Given the description of an element on the screen output the (x, y) to click on. 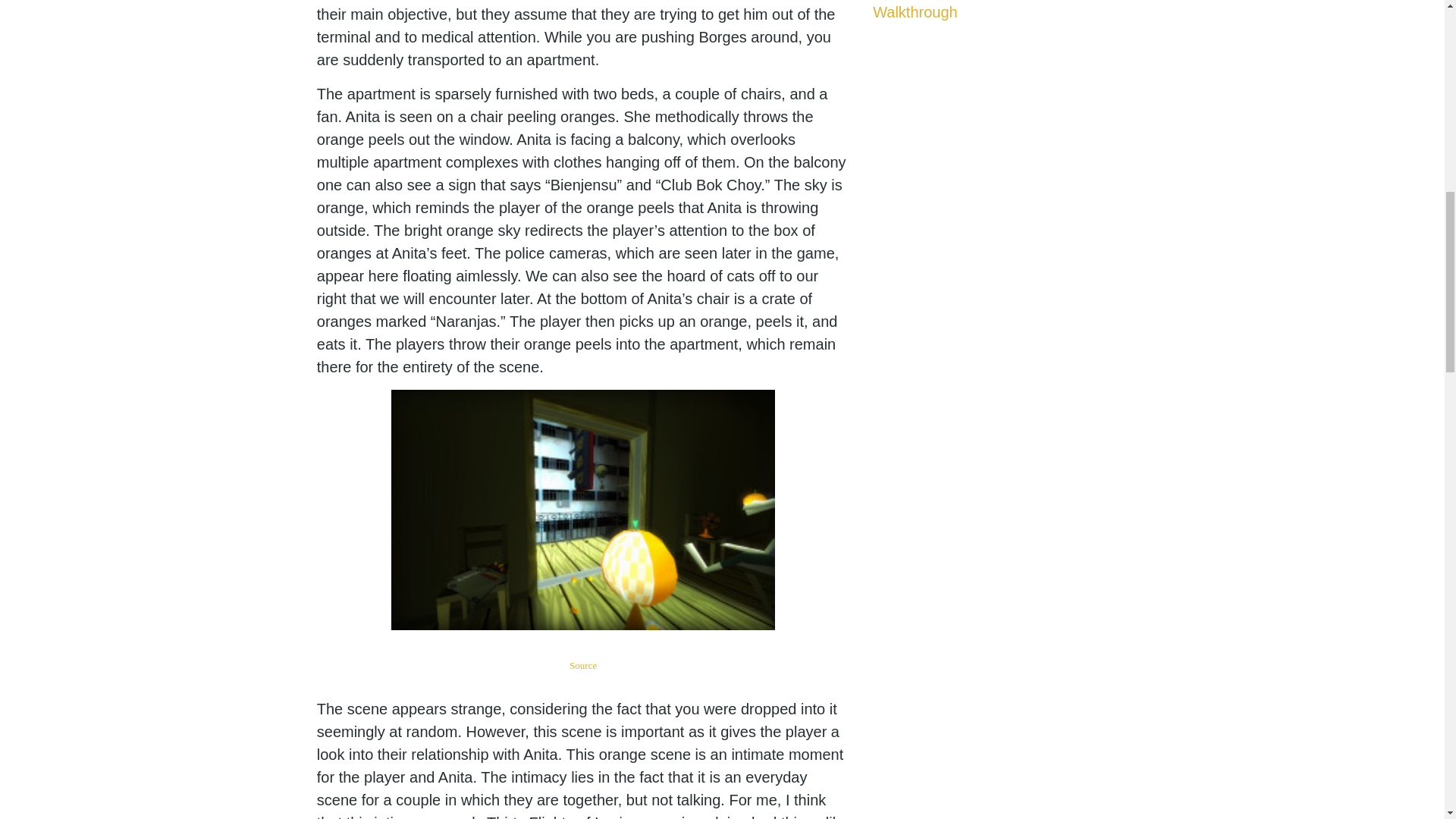
Source (582, 665)
Walkthrough (915, 12)
